Given the description of an element on the screen output the (x, y) to click on. 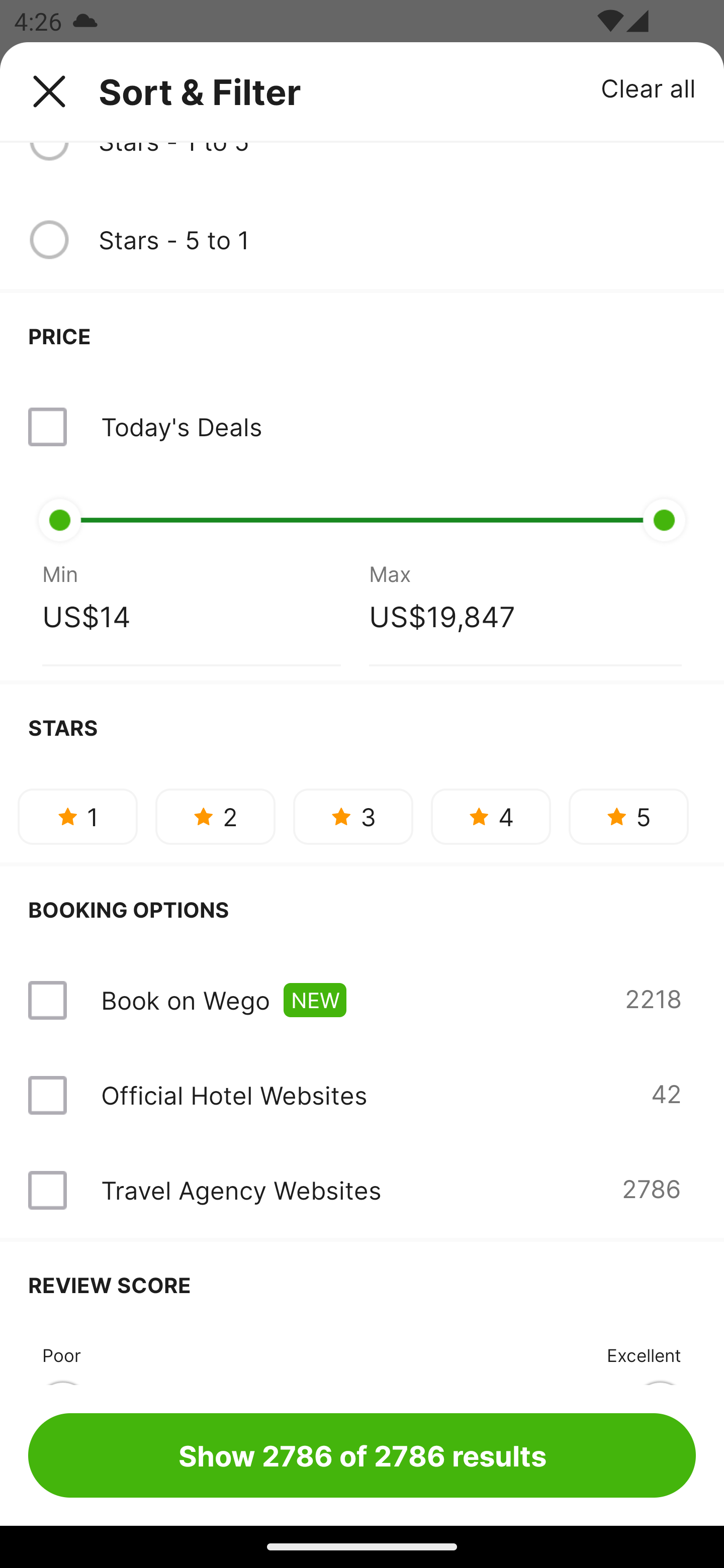
Clear all (648, 87)
Stars - 5 to 1 (396, 239)
Today's Deals (362, 427)
Today's Deals (181, 426)
1 (77, 816)
2 (214, 816)
3 (352, 816)
4 (491, 816)
5 (627, 816)
Book on Wego NEW 2218 (362, 1000)
Book on Wego (184, 1000)
Official Hotel Websites 42 (362, 1095)
Official Hotel Websites (233, 1095)
Travel Agency Websites 2786 (362, 1190)
Travel Agency Websites (240, 1189)
Poor Excellent (362, 1356)
Show 2786 of 2786 results (361, 1454)
